Given the description of an element on the screen output the (x, y) to click on. 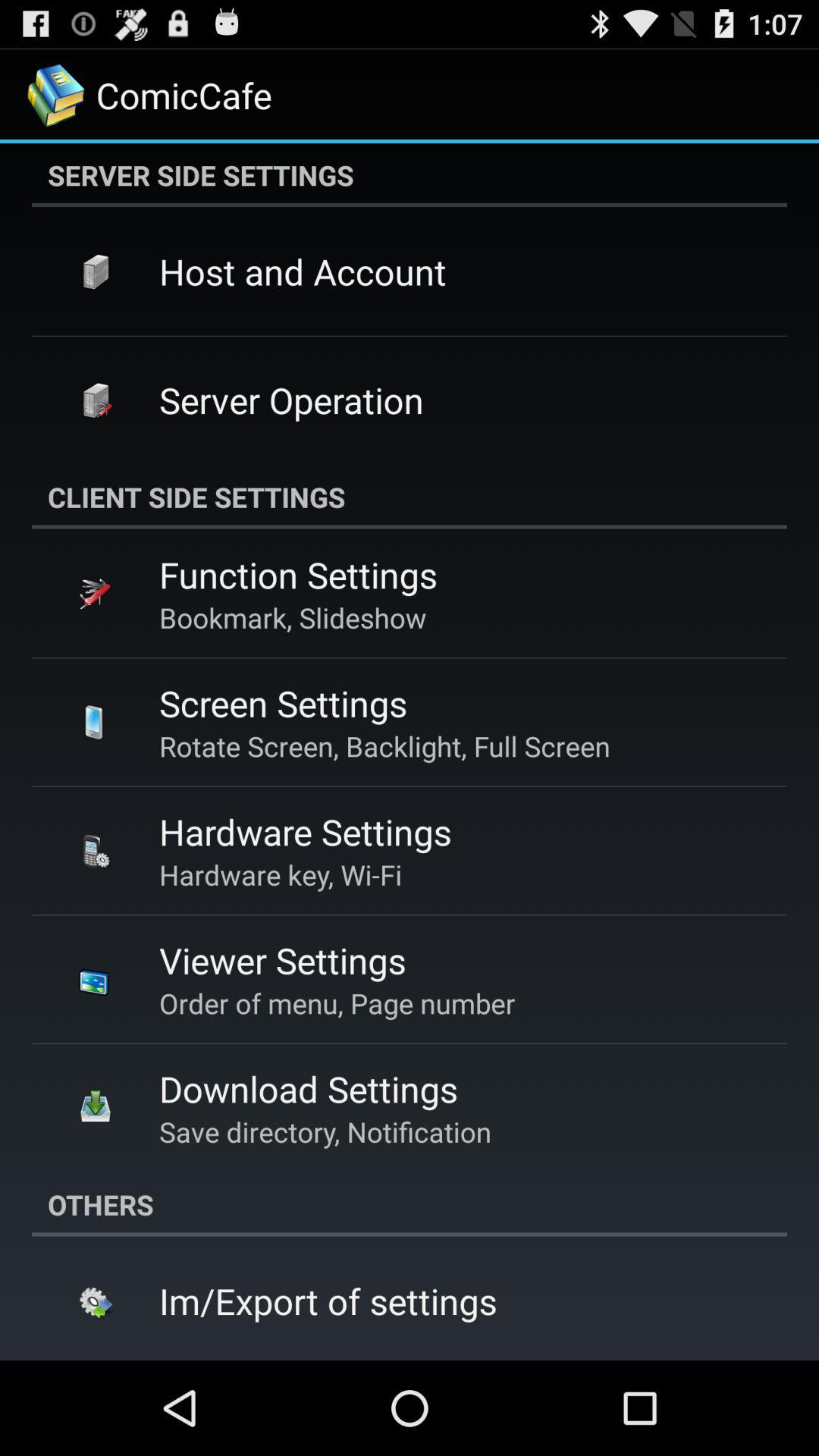
turn on the app above the rotate screen backlight item (283, 703)
